Given the description of an element on the screen output the (x, y) to click on. 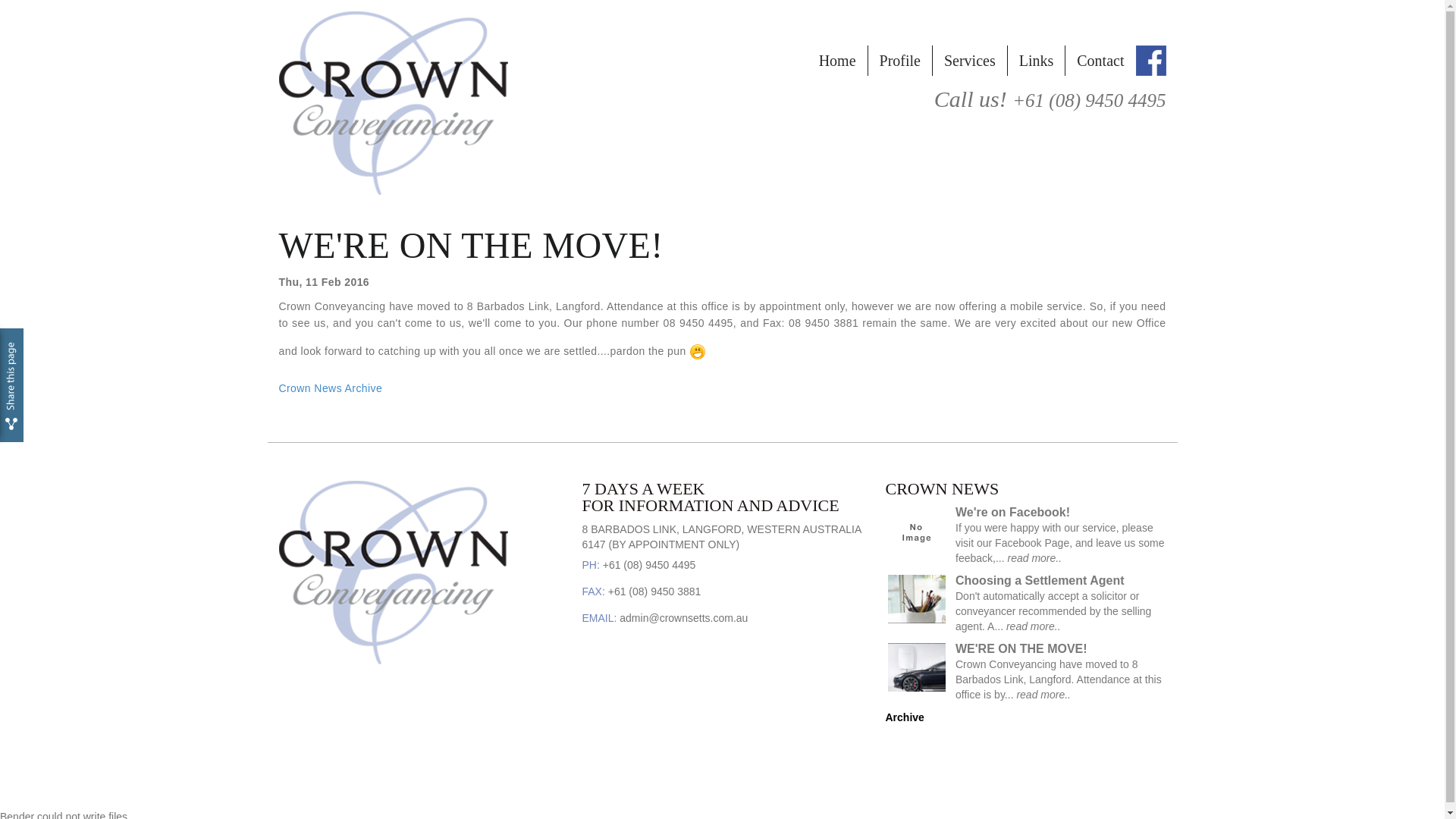
read more.. Element type: text (1033, 626)
Home Element type: text (837, 60)
Archive Element type: text (904, 717)
We're on Facebook! Element type: text (1012, 511)
WE'RE ON THE MOVE! Element type: text (1021, 648)
laugh Element type: hover (697, 352)
Choosing a Settlement Agent Element type: text (1039, 580)
Services Element type: text (969, 60)
Web Design Perth Australia Element type: hover (1113, 787)
Terms of Use Element type: text (688, 786)
read more.. Element type: text (1034, 558)
read more.. Element type: text (1043, 694)
Links Element type: text (1036, 60)
Profile Element type: text (899, 60)
Contact Element type: text (1099, 60)
Privacy Policy Element type: text (616, 786)
Crown News Archive Element type: text (330, 388)
